Given the description of an element on the screen output the (x, y) to click on. 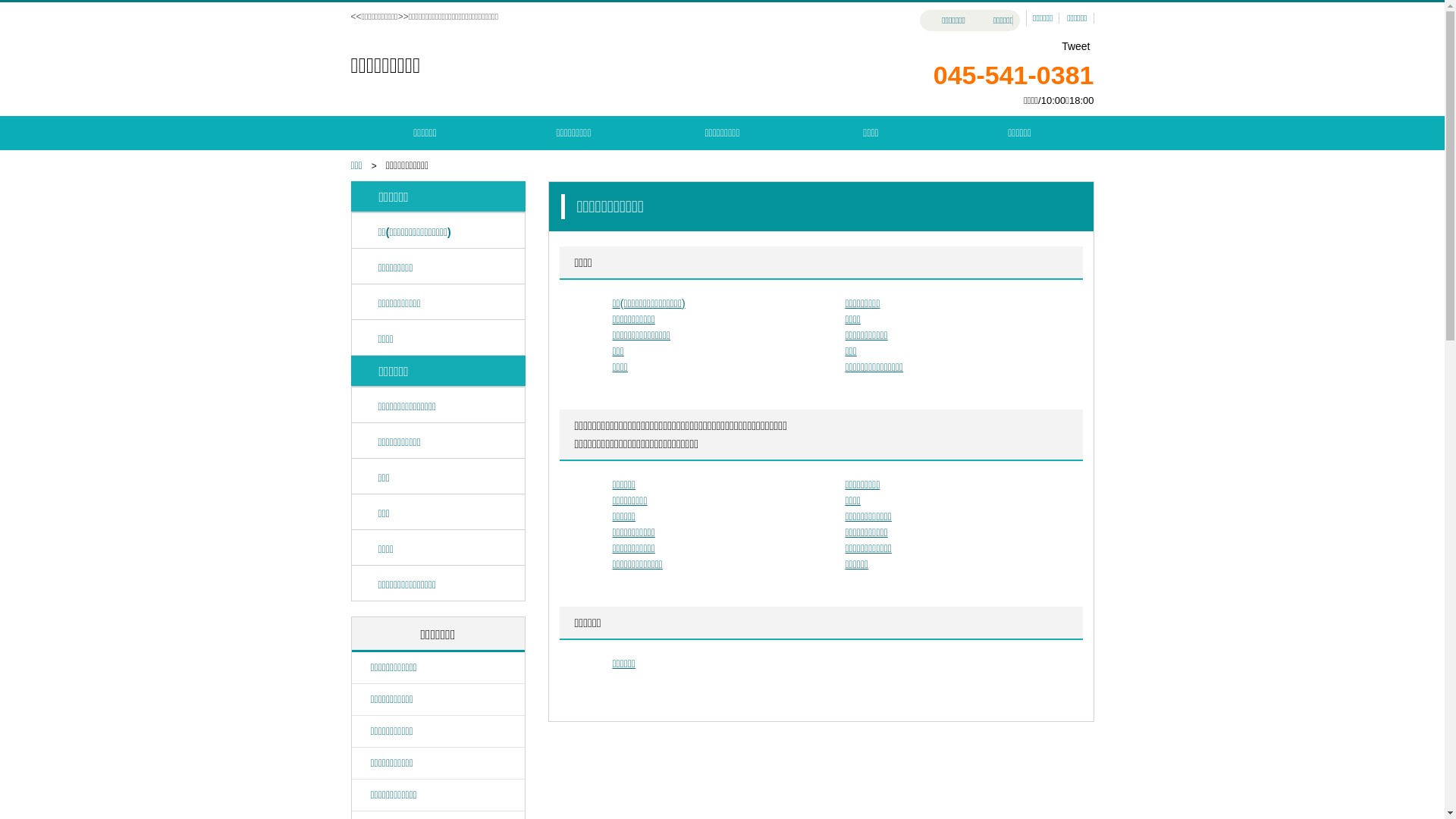
Tweet Element type: text (1075, 46)
